Given the description of an element on the screen output the (x, y) to click on. 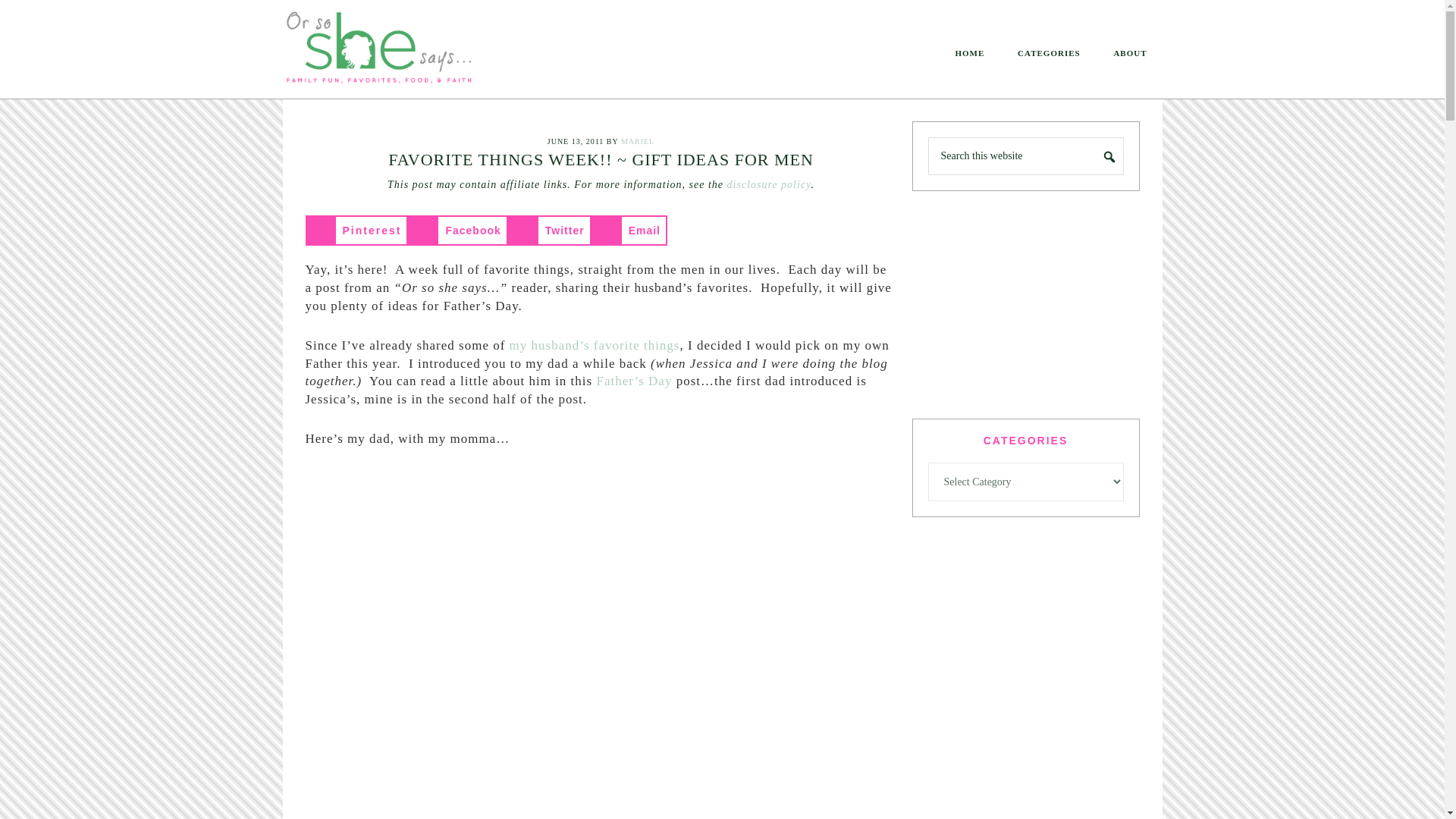
disclosure policy (768, 184)
Share on Facebook (456, 230)
CATEGORIES (1049, 52)
Send over email (628, 230)
Twitter (549, 230)
HOME (968, 52)
Email (628, 230)
MARIEL (637, 141)
OR SO SHE SAYS... (403, 52)
Share on X (549, 230)
